Given the description of an element on the screen output the (x, y) to click on. 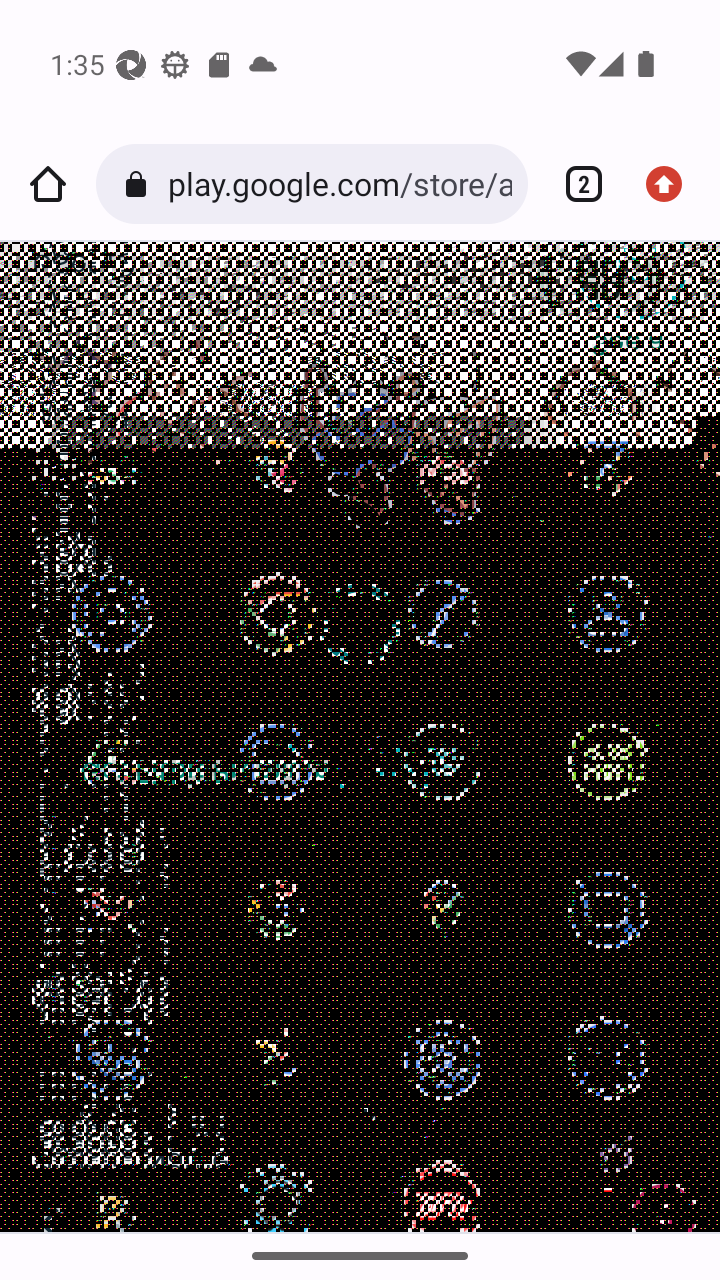
Home (47, 184)
Connection is secure (139, 184)
Switch or close tabs (575, 184)
Update available. More options (672, 184)
